Given the description of an element on the screen output the (x, y) to click on. 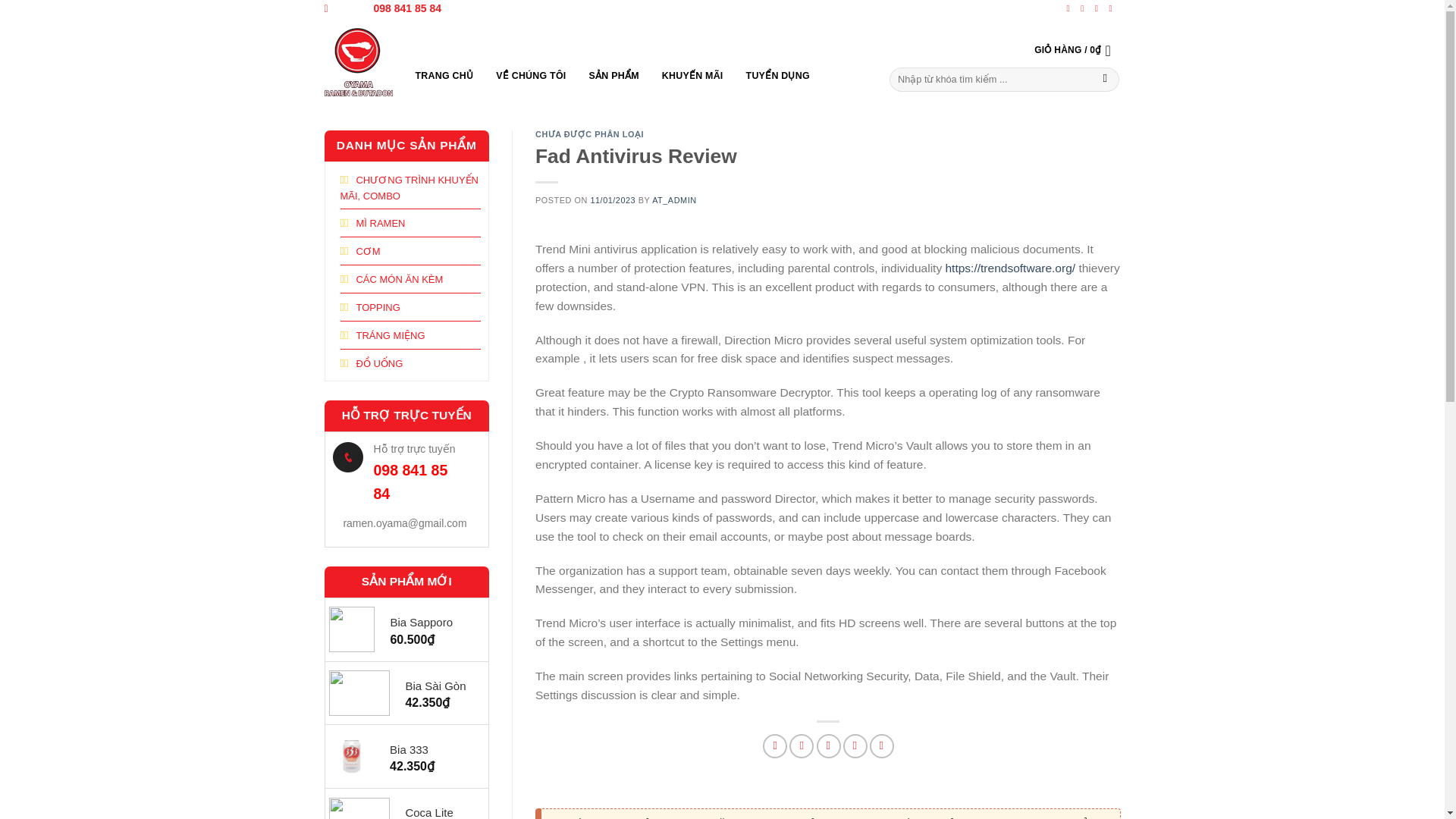
Coca Lite (437, 811)
Share on LinkedIn (881, 745)
Follow on Instagram (1084, 8)
Bia 333 (430, 750)
Pin on Pinterest (855, 745)
Share on Twitter (801, 745)
TOPPING (368, 307)
Share on Facebook (774, 745)
Follow on Facebook (1071, 8)
Email to a Friend (828, 745)
